Given the description of an element on the screen output the (x, y) to click on. 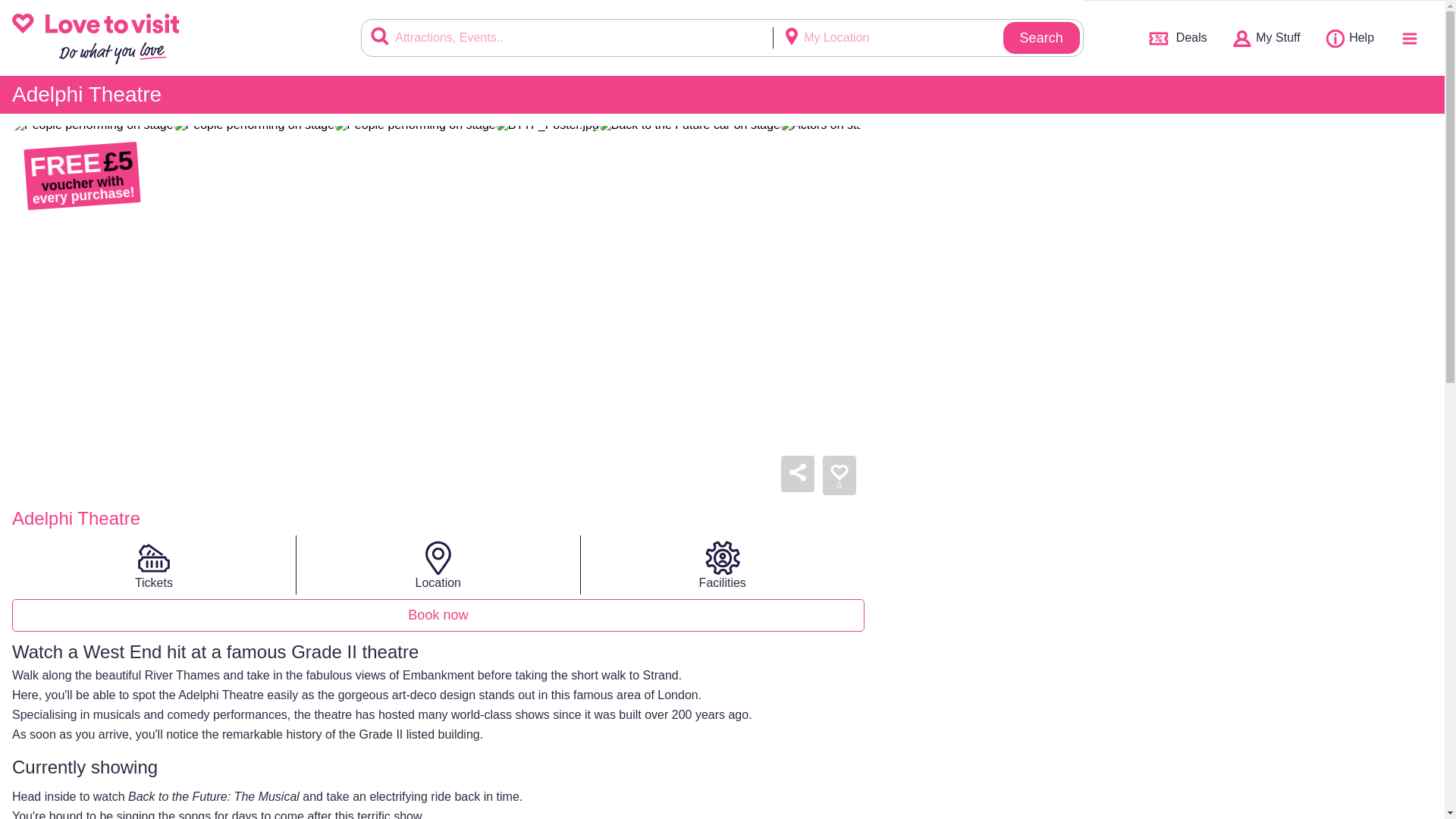
My Stuff (1266, 37)
Share (796, 473)
Location (438, 564)
Menu (1409, 37)
Search (1041, 16)
Book now (437, 614)
Tickets (154, 564)
Account (1266, 37)
Deals (1176, 38)
Help (1350, 37)
